Given the description of an element on the screen output the (x, y) to click on. 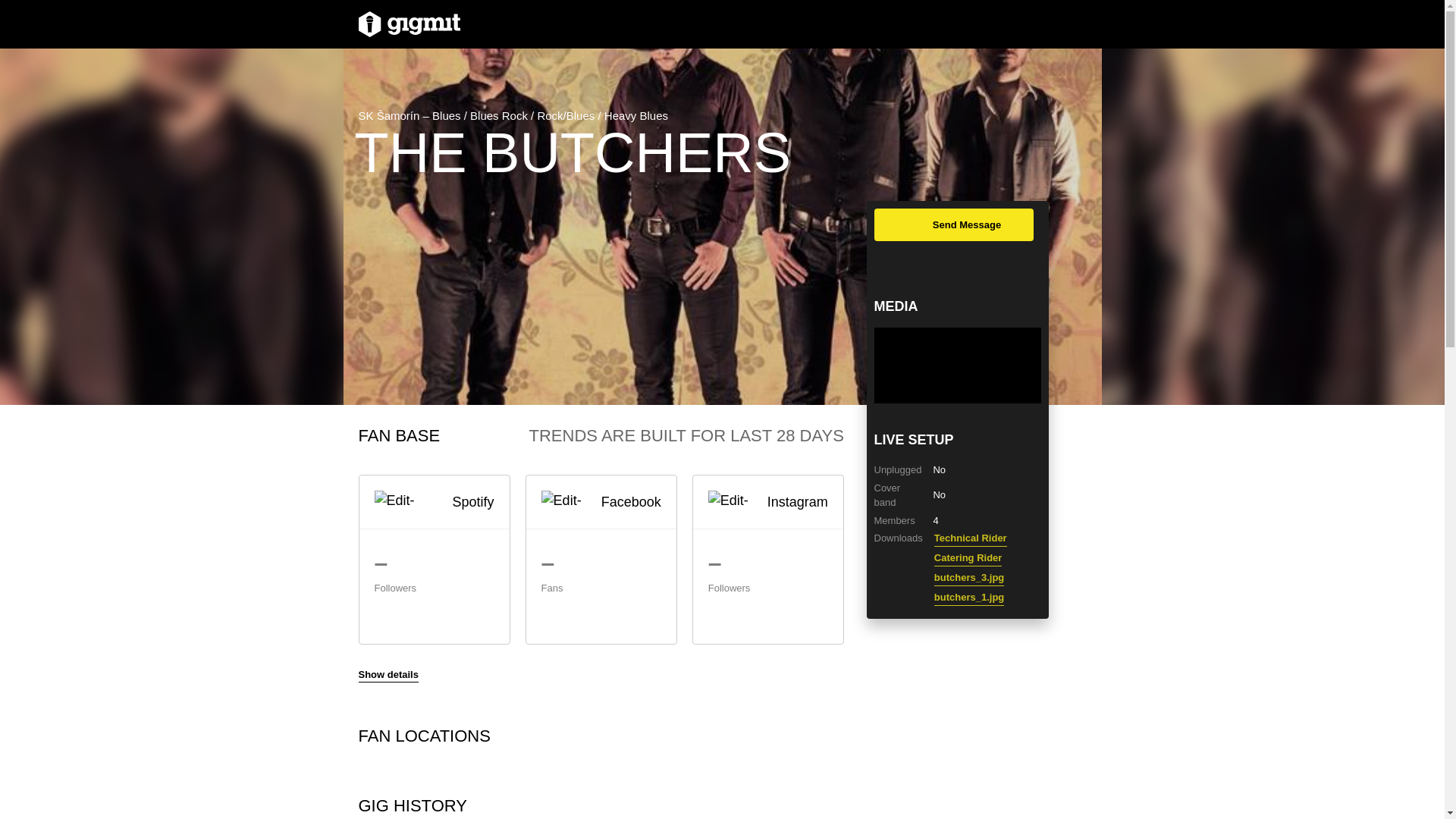
Catering Rider (968, 558)
Send Message (952, 224)
Technical Rider (970, 538)
Show details (387, 675)
